Given the description of an element on the screen output the (x, y) to click on. 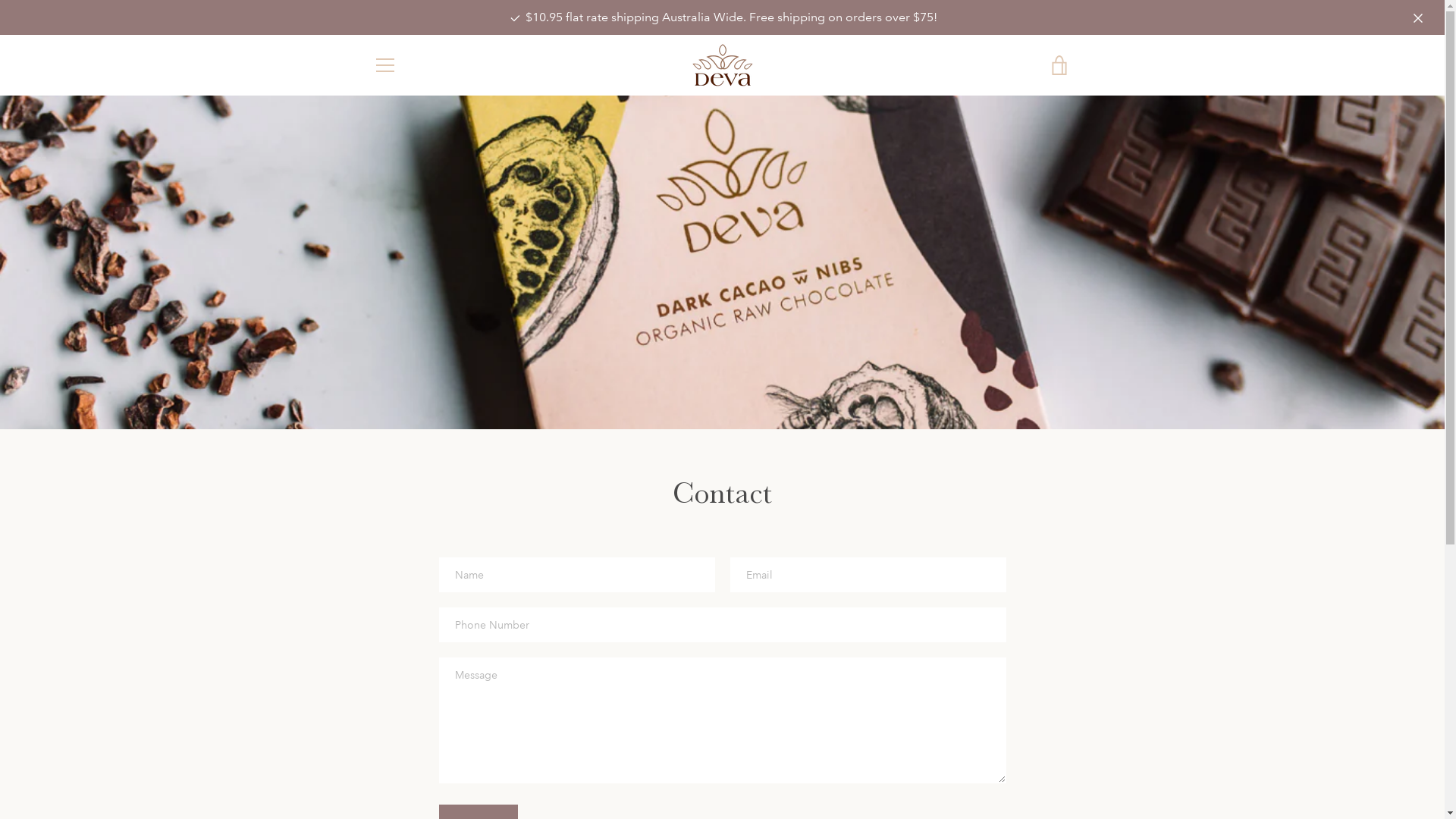
SEARCH Element type: text (393, 570)
Instagram Element type: text (398, 765)
Deva Cacao Element type: text (718, 766)
MENU Element type: text (384, 65)
Powered by Shopify Element type: text (794, 766)
Skip to content Element type: text (0, 0)
Facebook Element type: text (372, 765)
VIEW CART Element type: text (1059, 65)
